Given the description of an element on the screen output the (x, y) to click on. 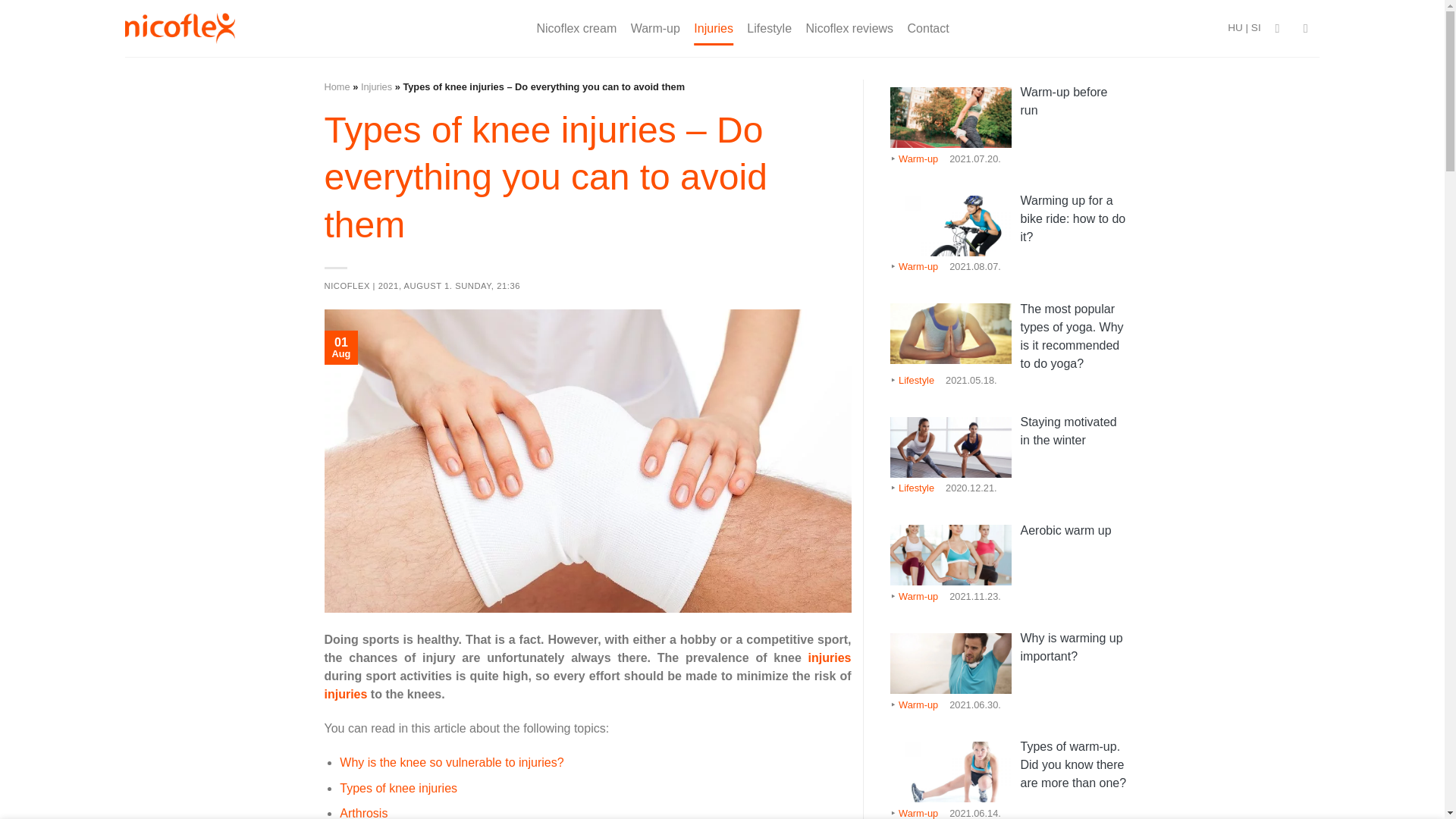
Injuries (713, 28)
Home (337, 86)
Warm-up (654, 28)
Nicoflex reviews (849, 28)
injuries (829, 657)
Contact (928, 28)
Nicoflex cream (575, 28)
injuries (346, 694)
Read more here injuries (346, 694)
